Given the description of an element on the screen output the (x, y) to click on. 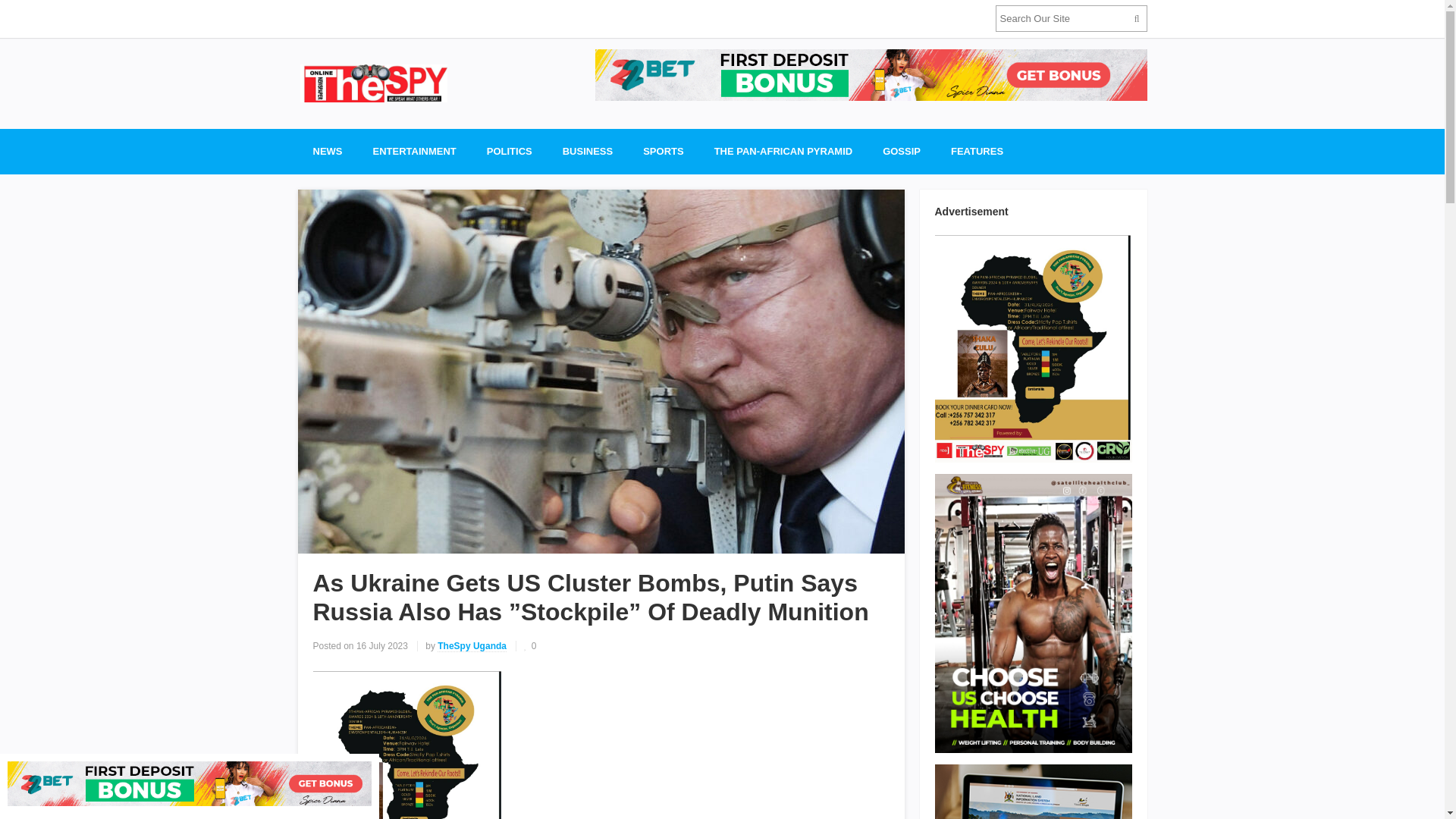
ENTERTAINMENT (414, 151)
BUSINESS (587, 151)
0 (529, 645)
NEWS (326, 151)
Like this (529, 645)
SPORTS (662, 151)
GOSSIP (901, 151)
THE PAN-AFRICAN PYRAMID (782, 151)
FEATURES (976, 151)
TheSpy Uganda (472, 645)
POLITICS (509, 151)
